Given the description of an element on the screen output the (x, y) to click on. 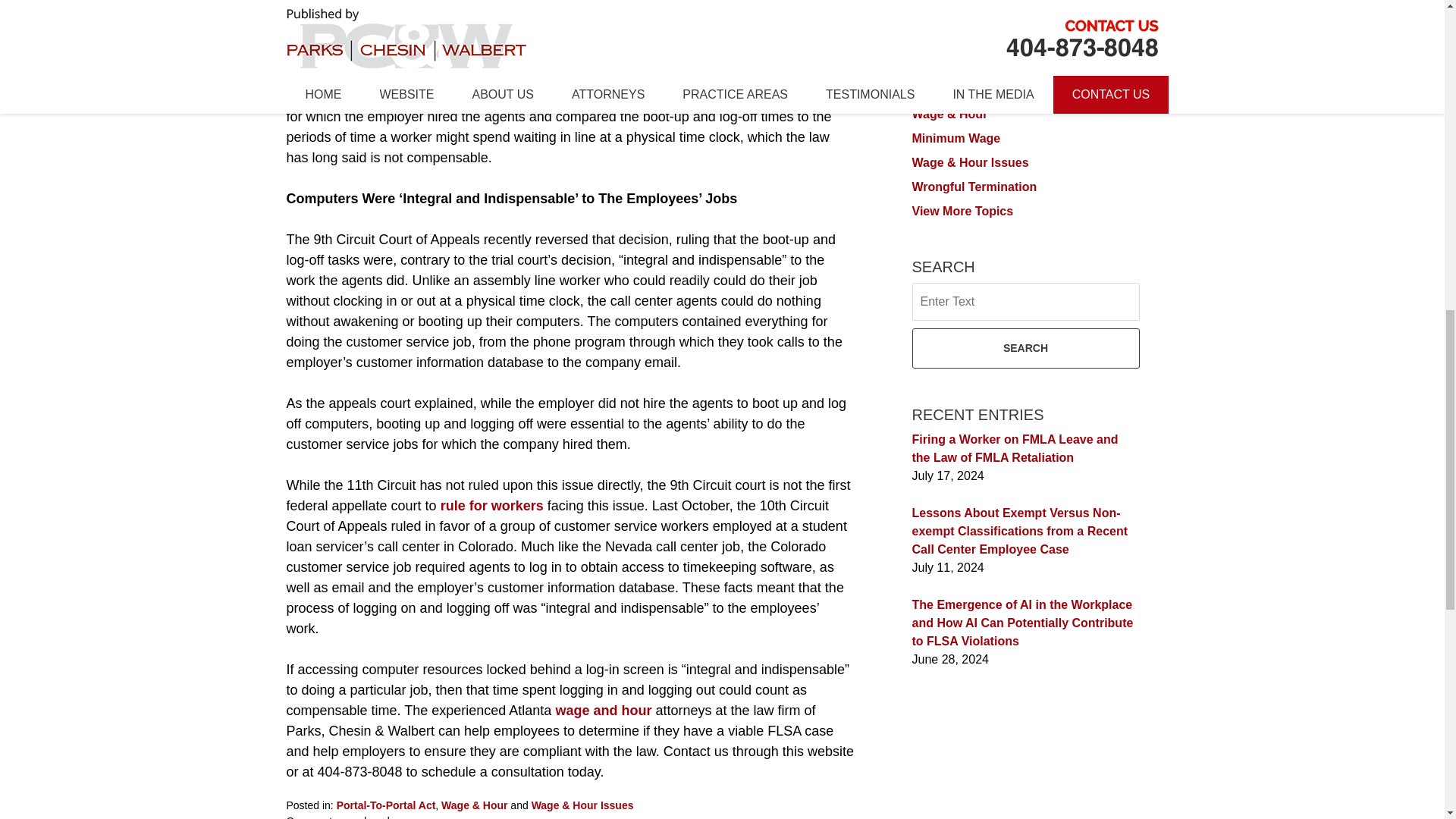
View all posts in Portal-To-Portal Act (385, 805)
rule for workers (492, 505)
Portal-To-Portal Act (385, 805)
wage and hour (602, 710)
